Given the description of an element on the screen output the (x, y) to click on. 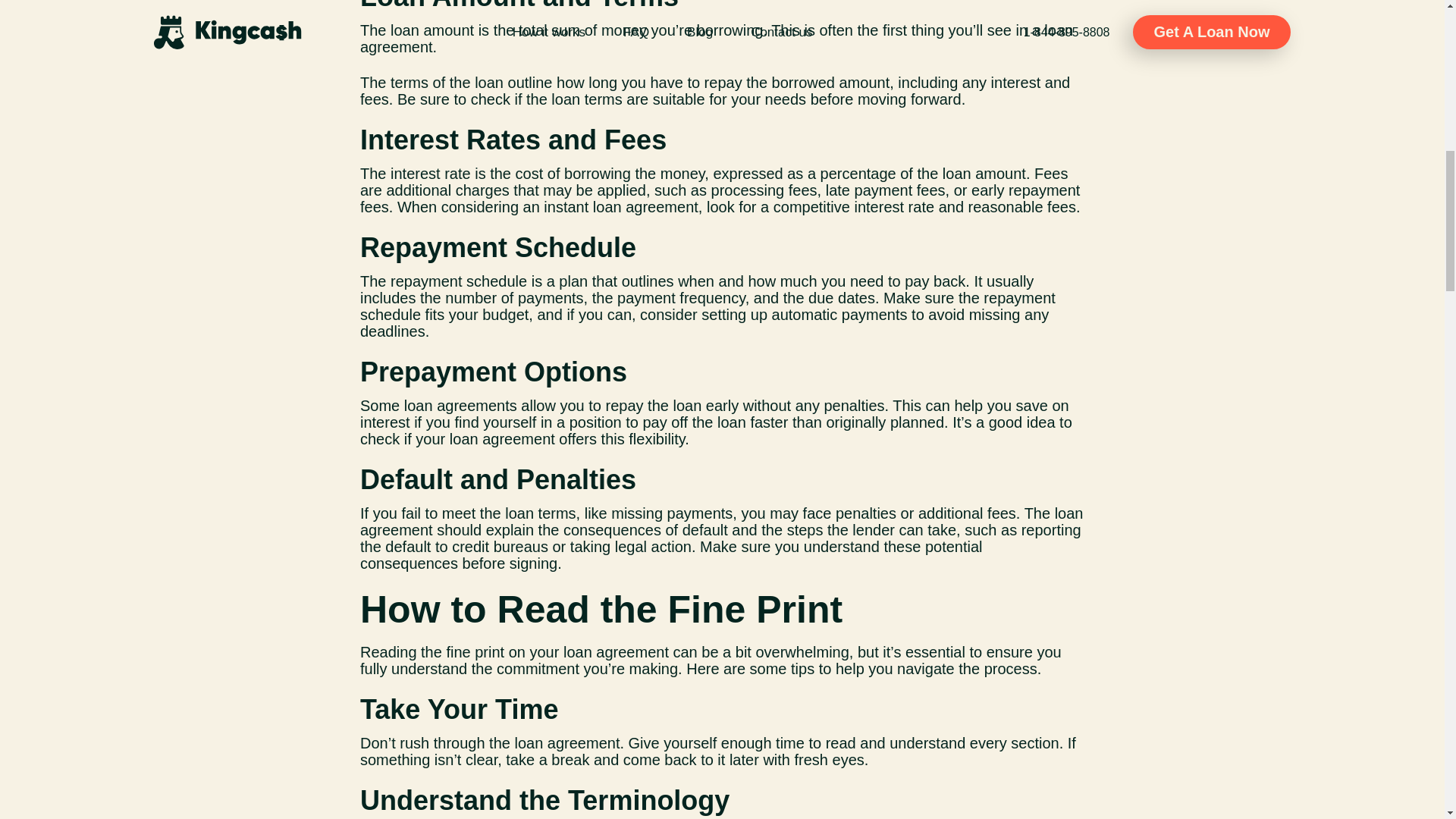
loan agreement (615, 651)
